Given the description of an element on the screen output the (x, y) to click on. 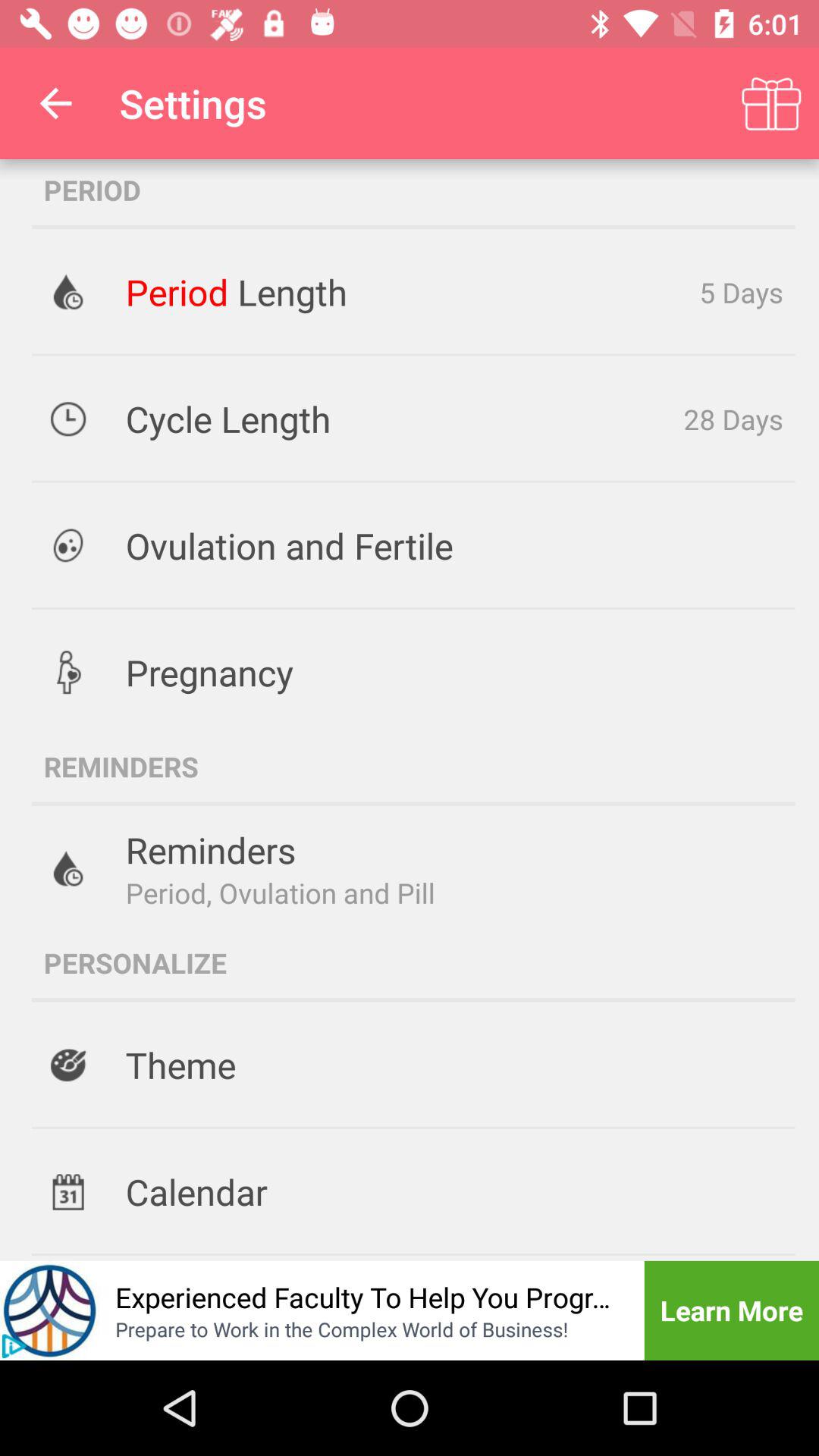
click on the icon left to the cycle length (69, 419)
